Given the description of an element on the screen output the (x, y) to click on. 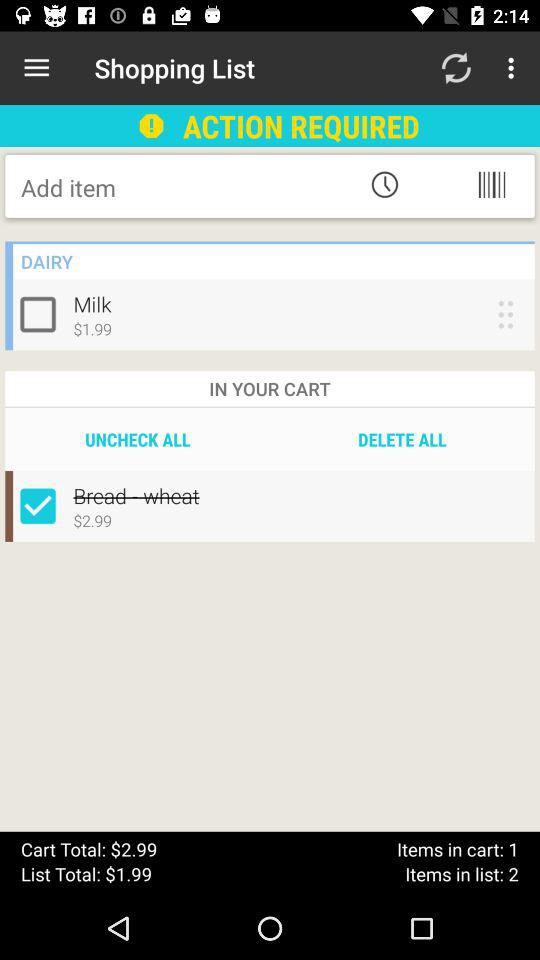
launch icon to the left of delete all (137, 439)
